Given the description of an element on the screen output the (x, y) to click on. 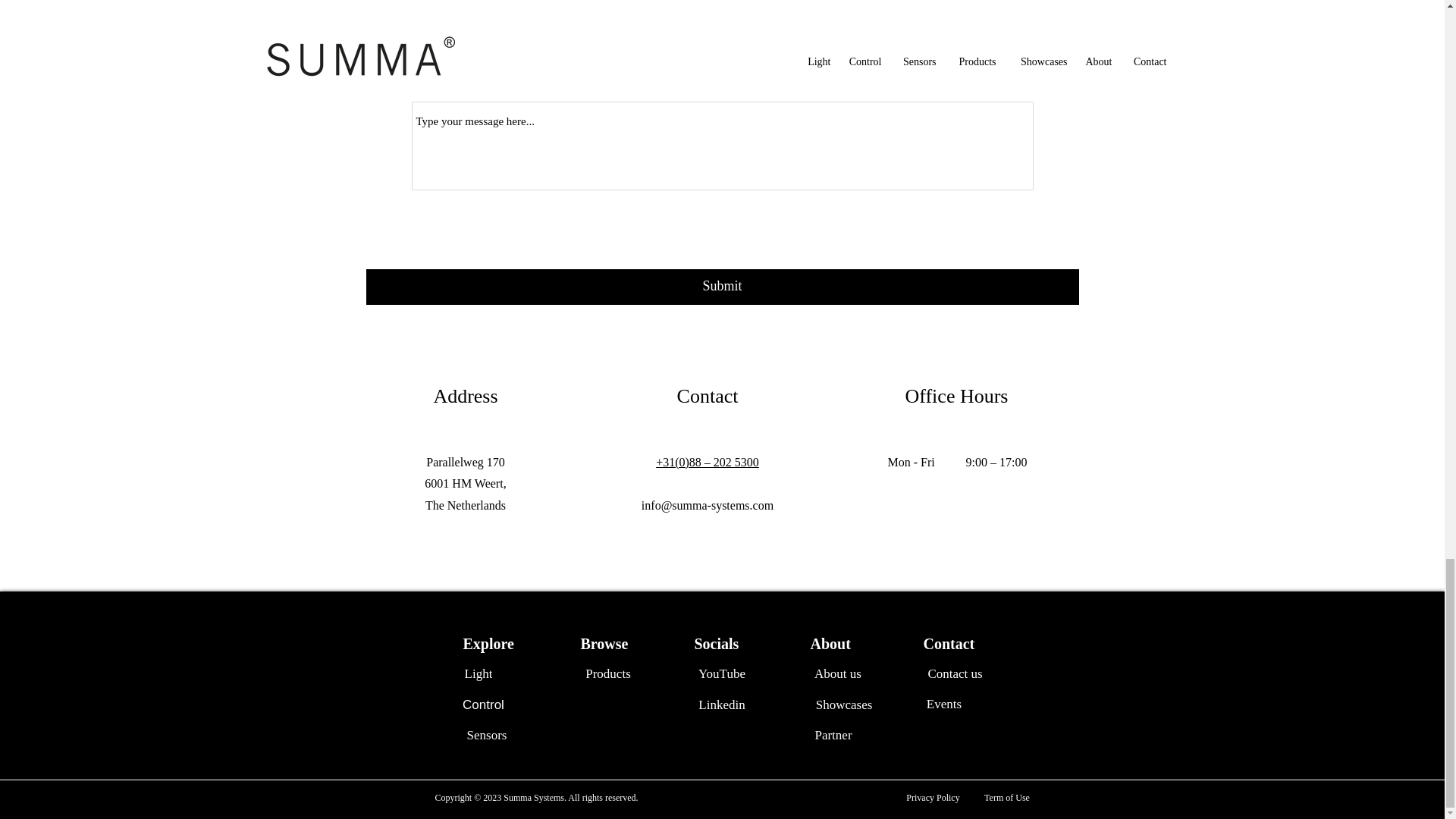
Privacy Policy (933, 797)
YouTube (721, 674)
Sensors (487, 735)
Events (943, 704)
About us (836, 674)
Light (478, 674)
Control (483, 705)
Term of Use (1006, 797)
Linkedin (721, 705)
Showcases (844, 705)
Contact us (954, 674)
Products (608, 674)
Submit (721, 286)
Partner (833, 735)
